Given the description of an element on the screen output the (x, y) to click on. 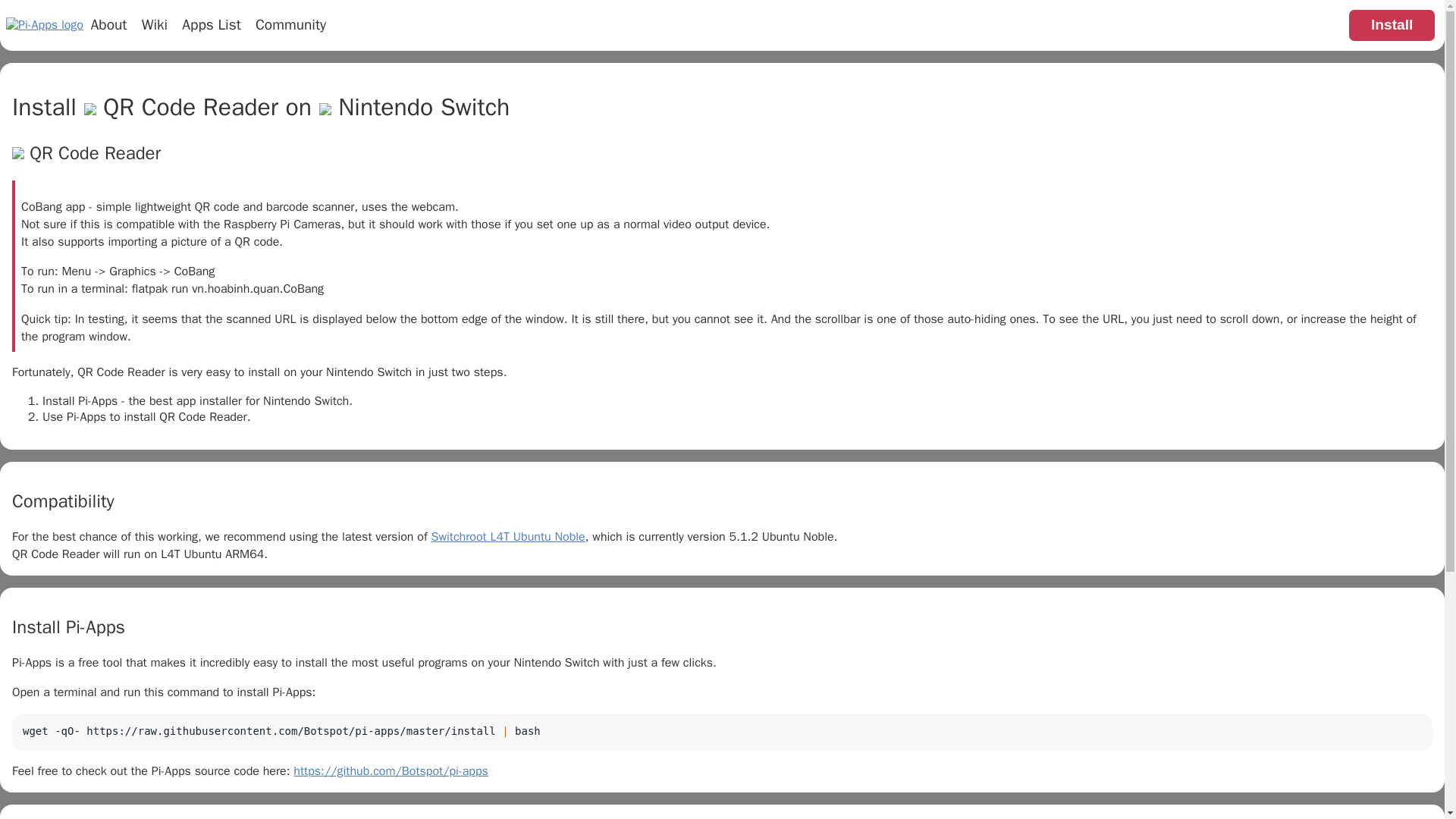
Apps List (211, 25)
Install (1391, 24)
About (109, 25)
Wiki (154, 25)
Switchroot L4T Ubuntu Noble (507, 536)
Community (291, 25)
